Given the description of an element on the screen output the (x, y) to click on. 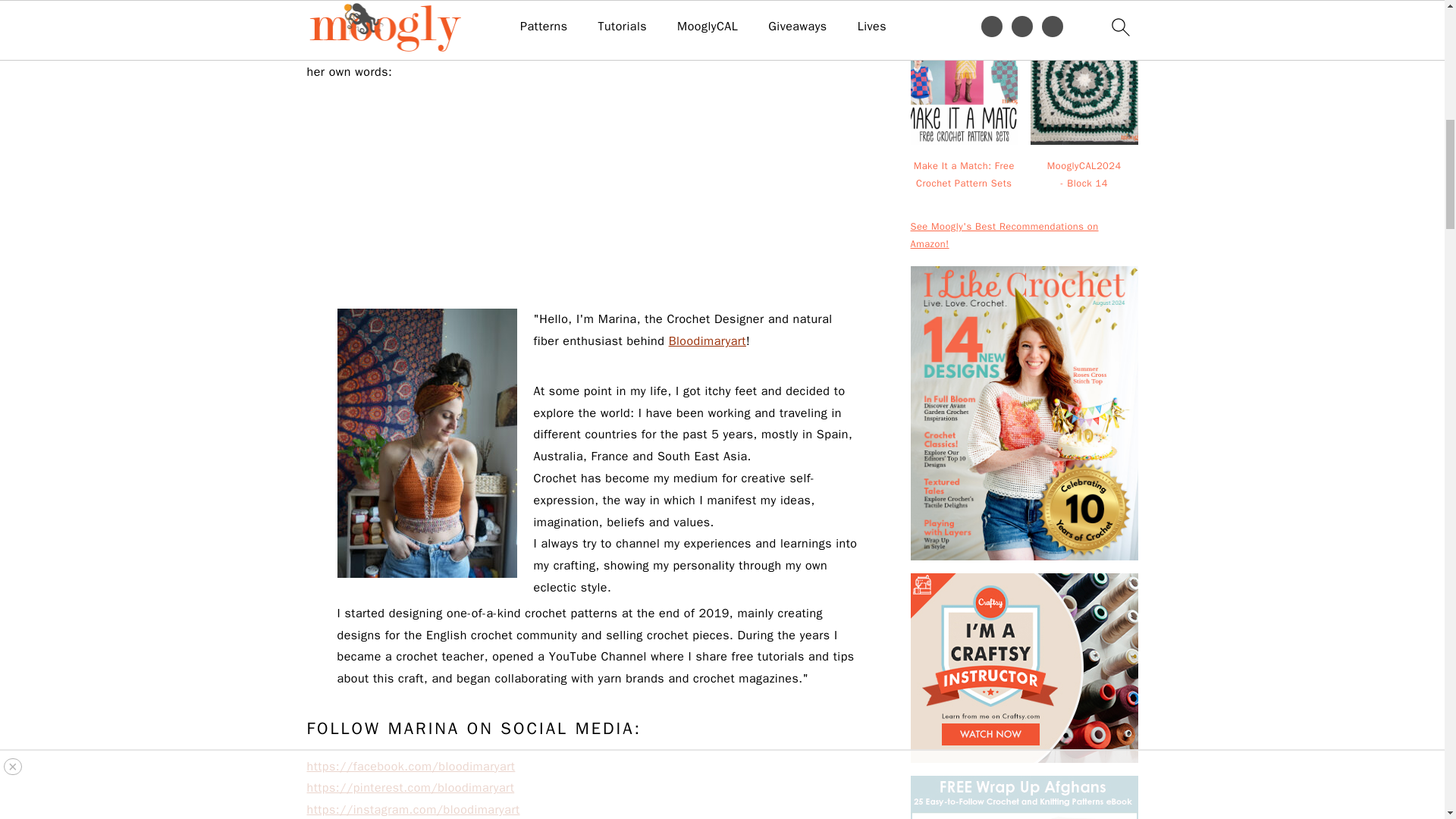
Bloodimaryart (517, 50)
Bloodimaryart (706, 340)
